Given the description of an element on the screen output the (x, y) to click on. 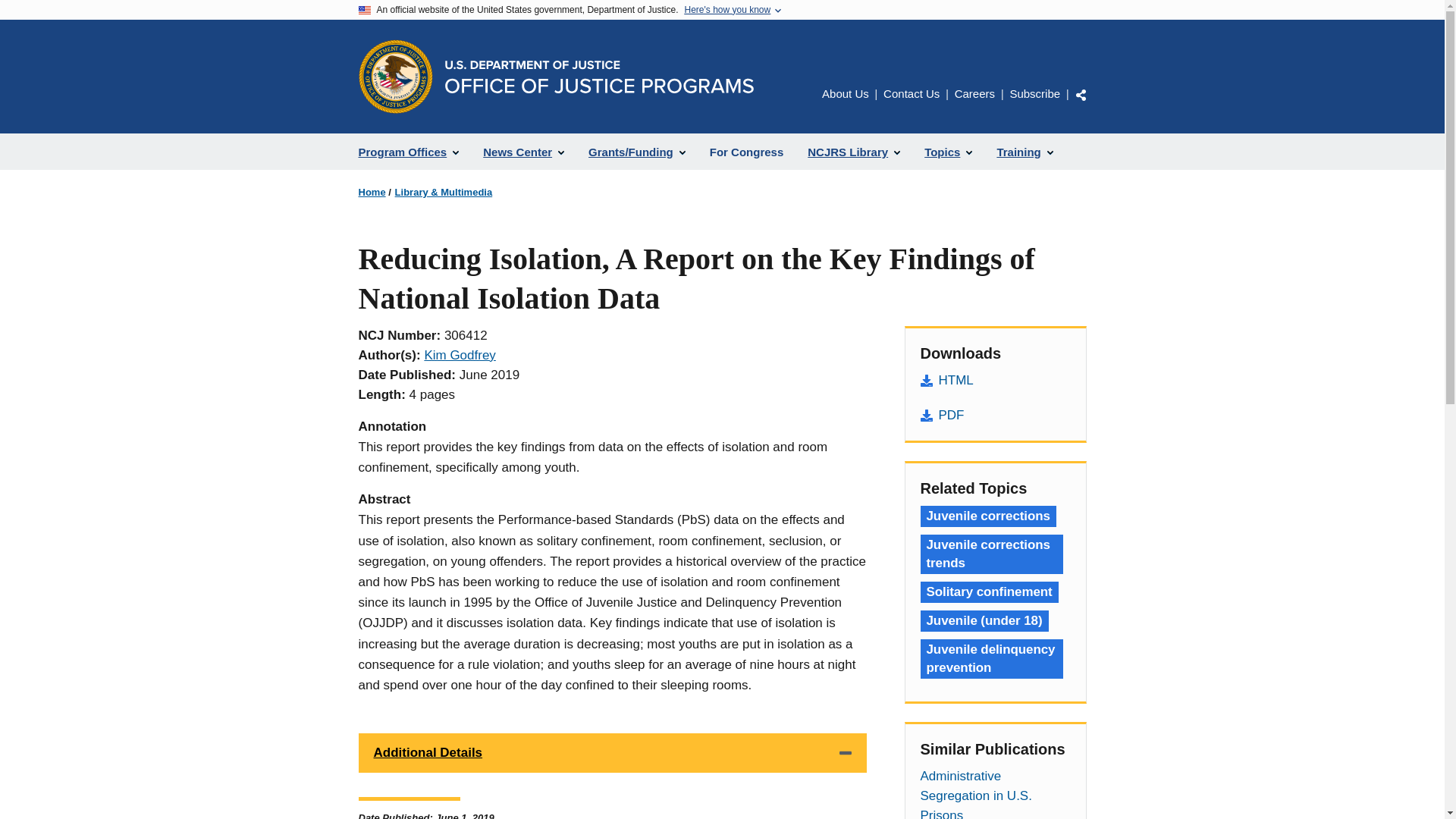
Juvenile delinquency prevention (991, 658)
Solitary confinement (989, 591)
Juvenile corrections (988, 516)
Home (371, 192)
Here's how you know (727, 9)
Choose a social sharing platform (1080, 94)
PDF (995, 415)
Share (1080, 94)
Home (598, 76)
Contact Us (911, 93)
